Given the description of an element on the screen output the (x, y) to click on. 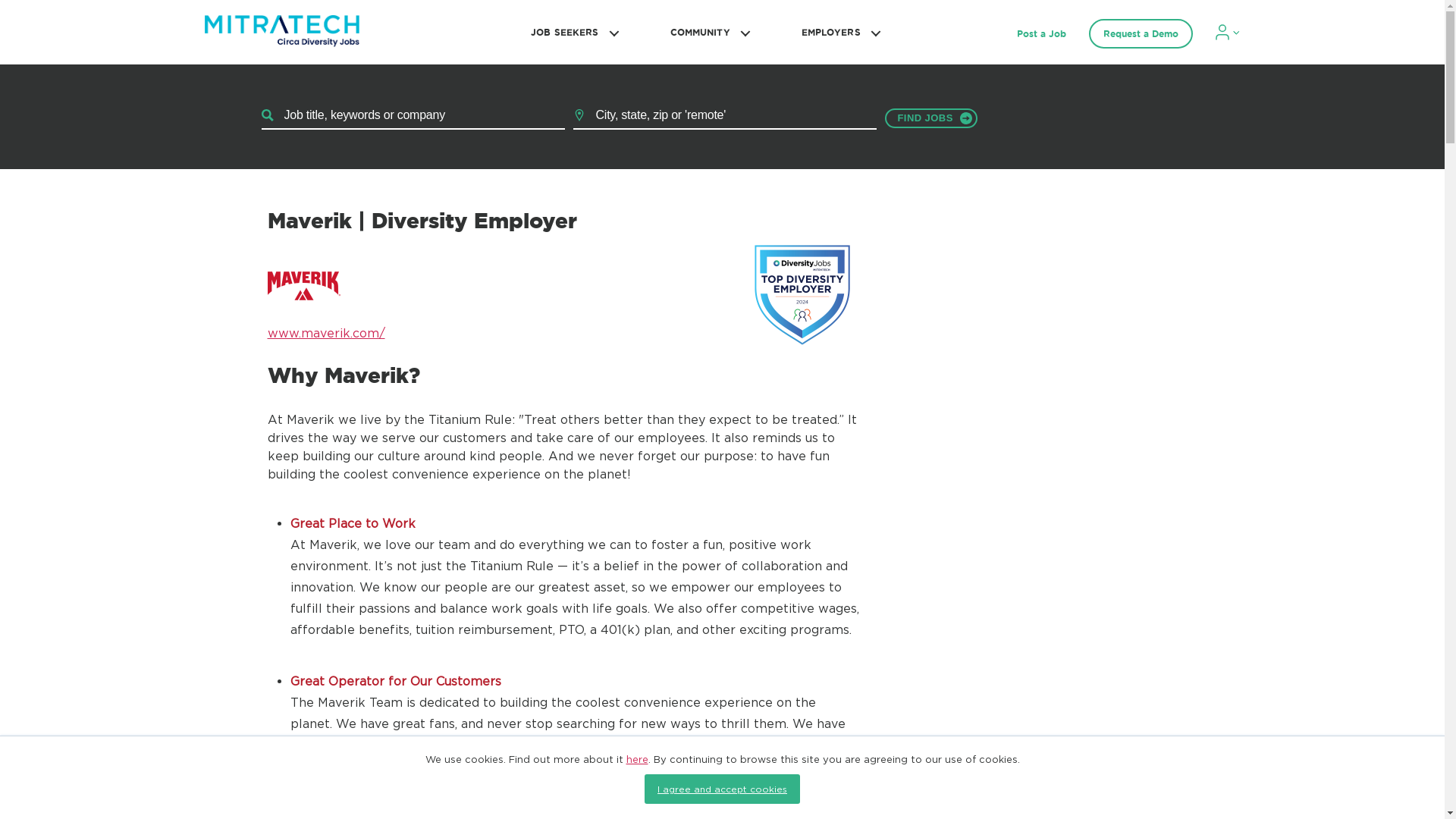
here (636, 758)
City, state, zip or 'remote' (724, 115)
JOB SEEKERS (571, 31)
I agree and accept cookies (722, 788)
COMMUNITY (707, 31)
Find Jobs (929, 117)
EMPLOYERS (839, 31)
What (412, 115)
Where (724, 115)
Search (929, 117)
Job title, keywords or company (412, 115)
Maverik jobs (302, 285)
